Given the description of an element on the screen output the (x, y) to click on. 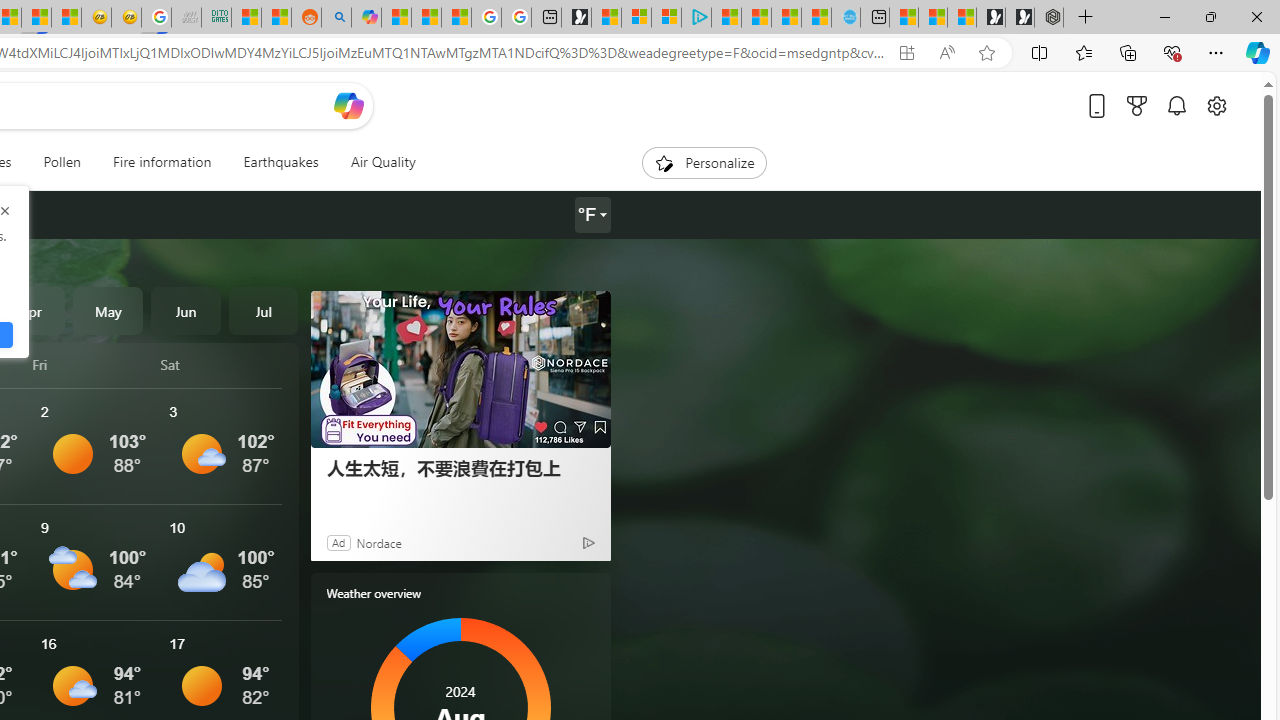
Fri (93, 363)
Personalize (703, 162)
Pollen (61, 162)
See More Details (221, 561)
